Given the description of an element on the screen output the (x, y) to click on. 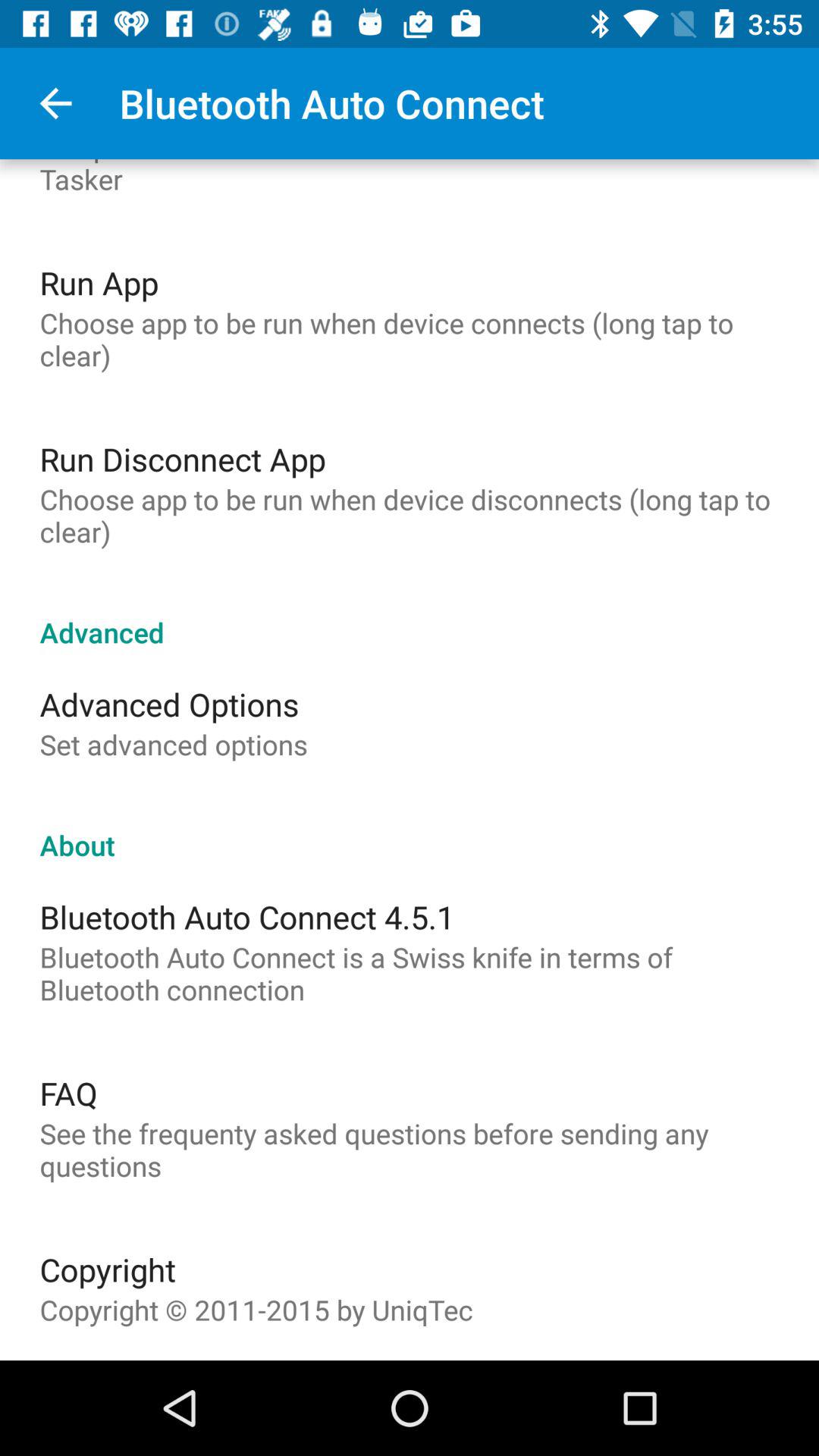
turn off the the preference misc icon (409, 178)
